Given the description of an element on the screen output the (x, y) to click on. 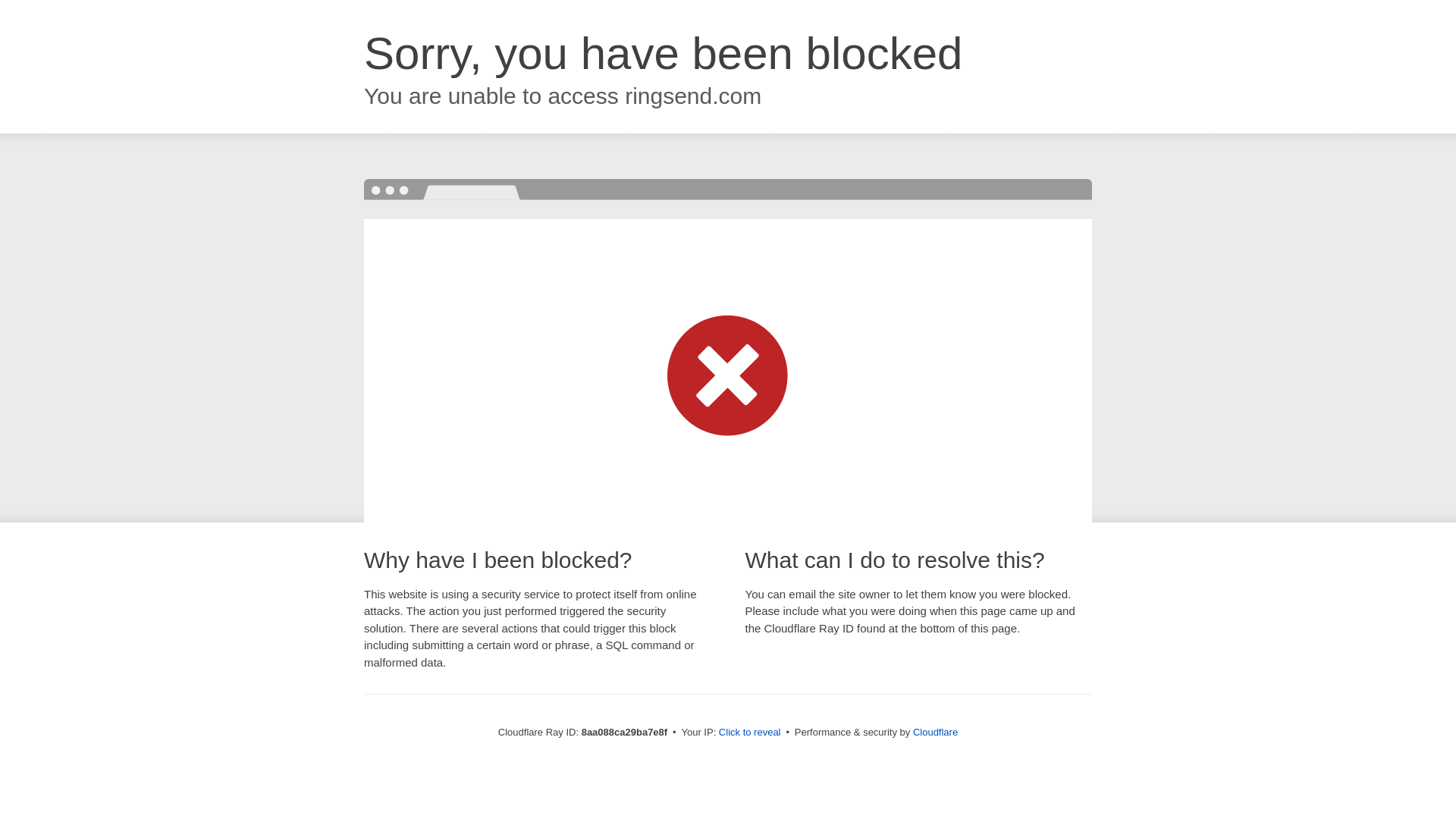
Click to reveal (749, 732)
Cloudflare (935, 731)
